Given the description of an element on the screen output the (x, y) to click on. 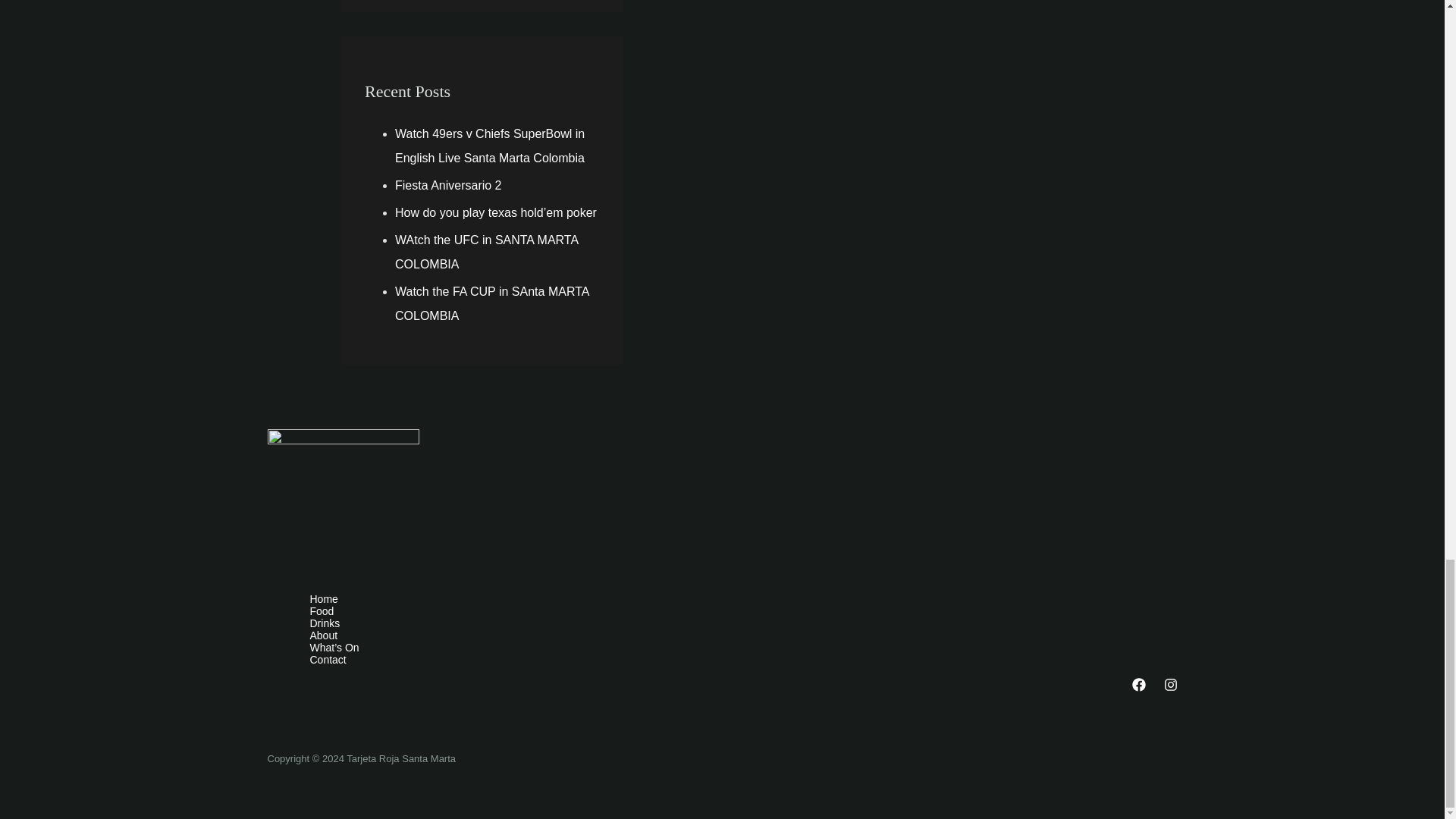
Drinks (736, 623)
Fiesta Aniversario 2 (448, 185)
Watch the FA CUP in SAnta MARTA COLOMBIA (491, 303)
Food (736, 611)
WAtch the UFC in SANTA MARTA COLOMBIA (486, 252)
Home (736, 598)
About (736, 635)
